Given the description of an element on the screen output the (x, y) to click on. 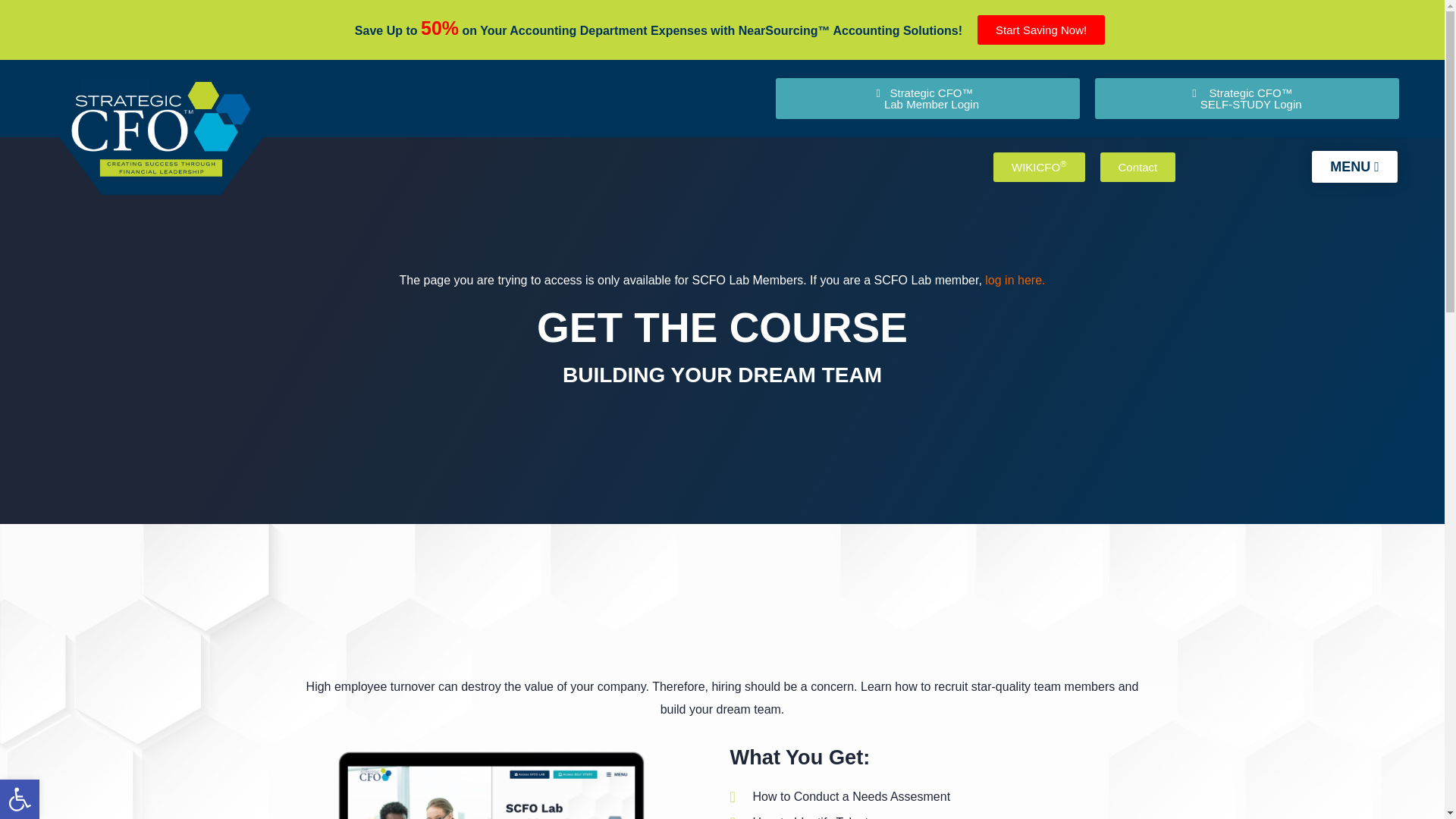
Start Saving Now! (1040, 30)
Accessibility Tools (19, 799)
Accessibility Tools (19, 799)
Contact (1136, 166)
MENU (1354, 166)
log in here. (1015, 279)
